Given the description of an element on the screen output the (x, y) to click on. 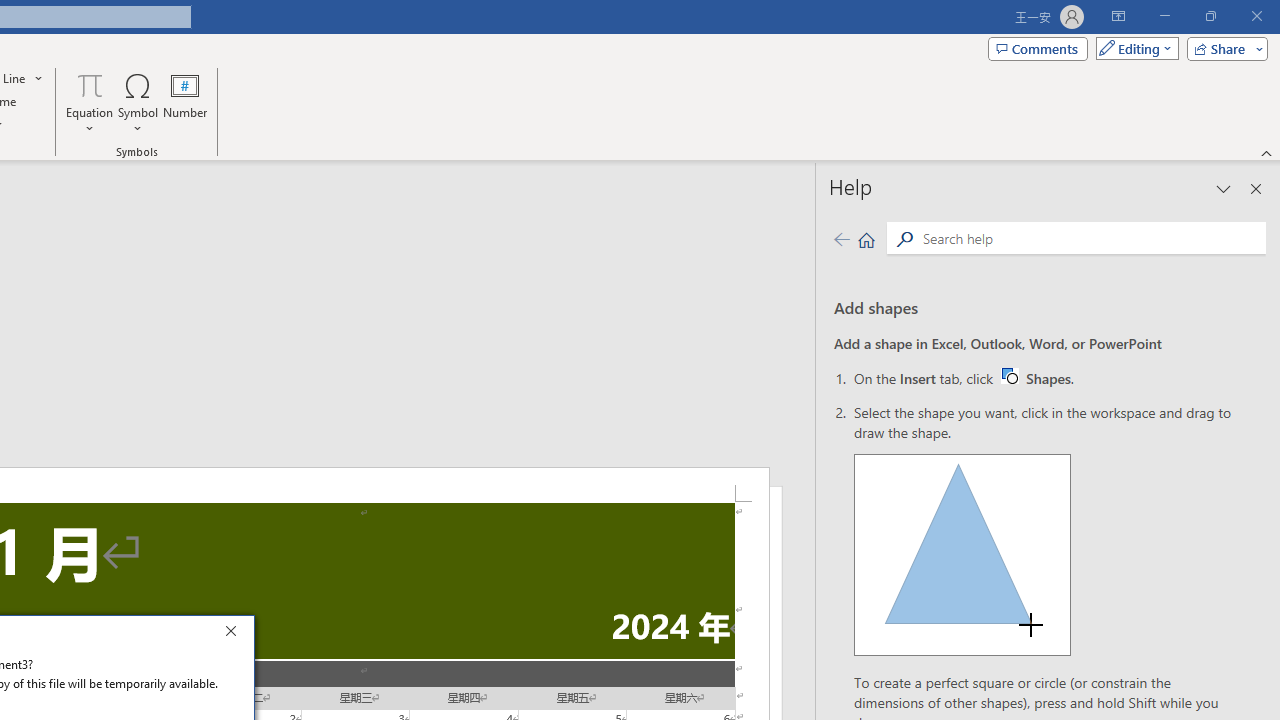
Equation (90, 102)
Symbol (138, 102)
Equation (90, 84)
Number... (185, 102)
Drawing a shape (962, 554)
